Given the description of an element on the screen output the (x, y) to click on. 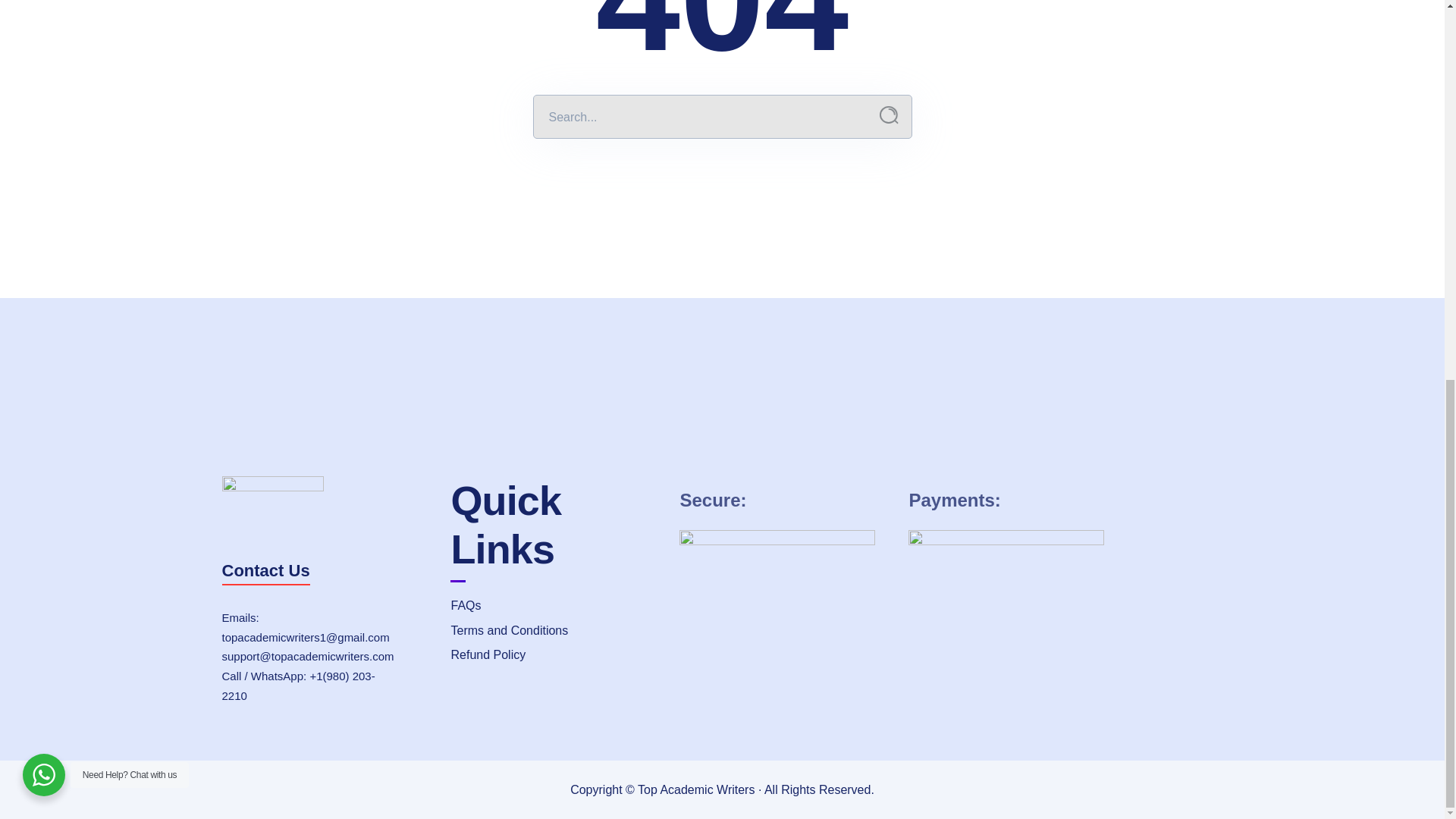
Need Help? Chat with us (44, 69)
FAQs (552, 605)
Search... (888, 115)
Refund Policy (552, 655)
Terms and Conditions (552, 630)
